Given the description of an element on the screen output the (x, y) to click on. 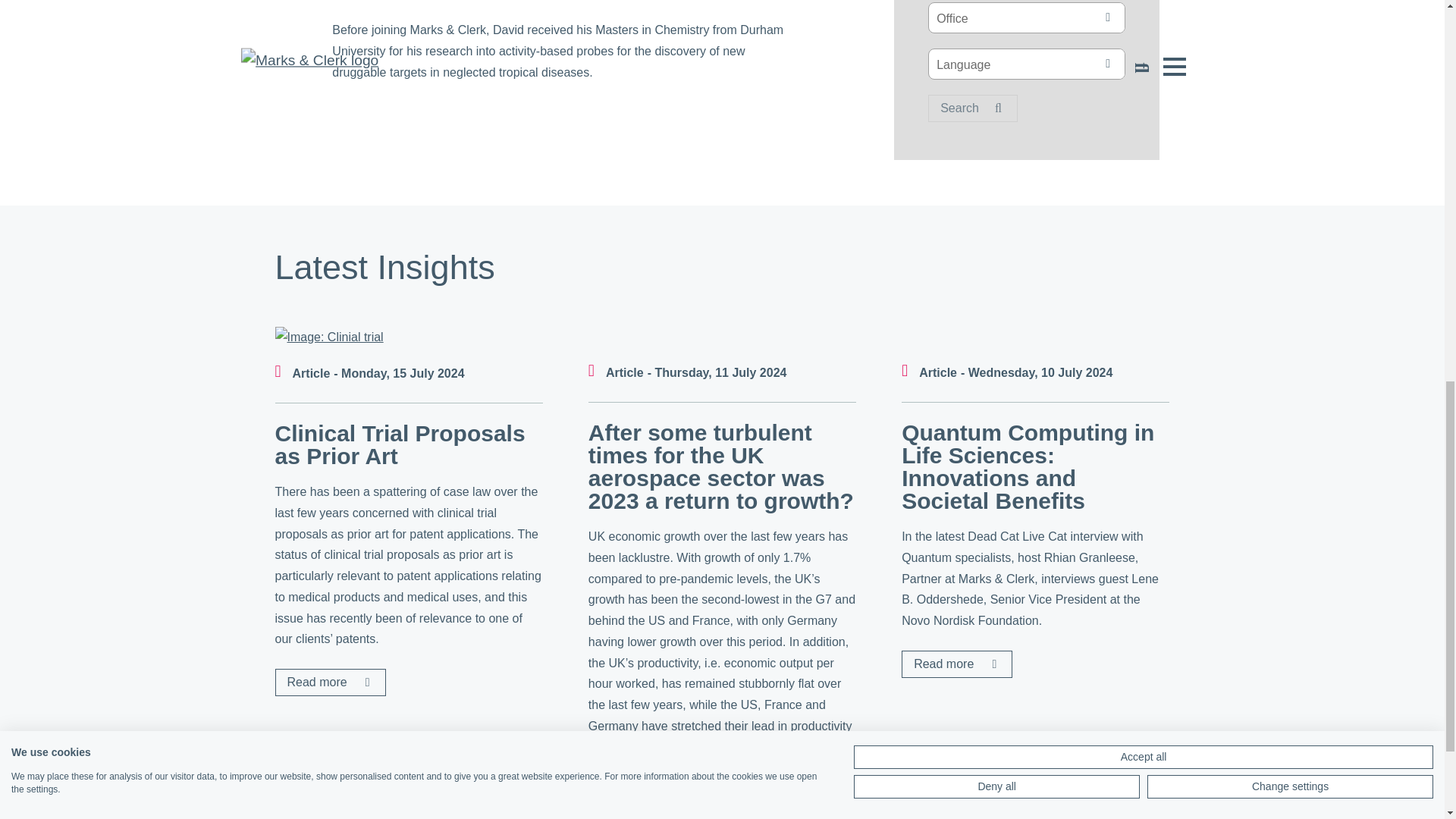
Clinical trial (328, 337)
